Given the description of an element on the screen output the (x, y) to click on. 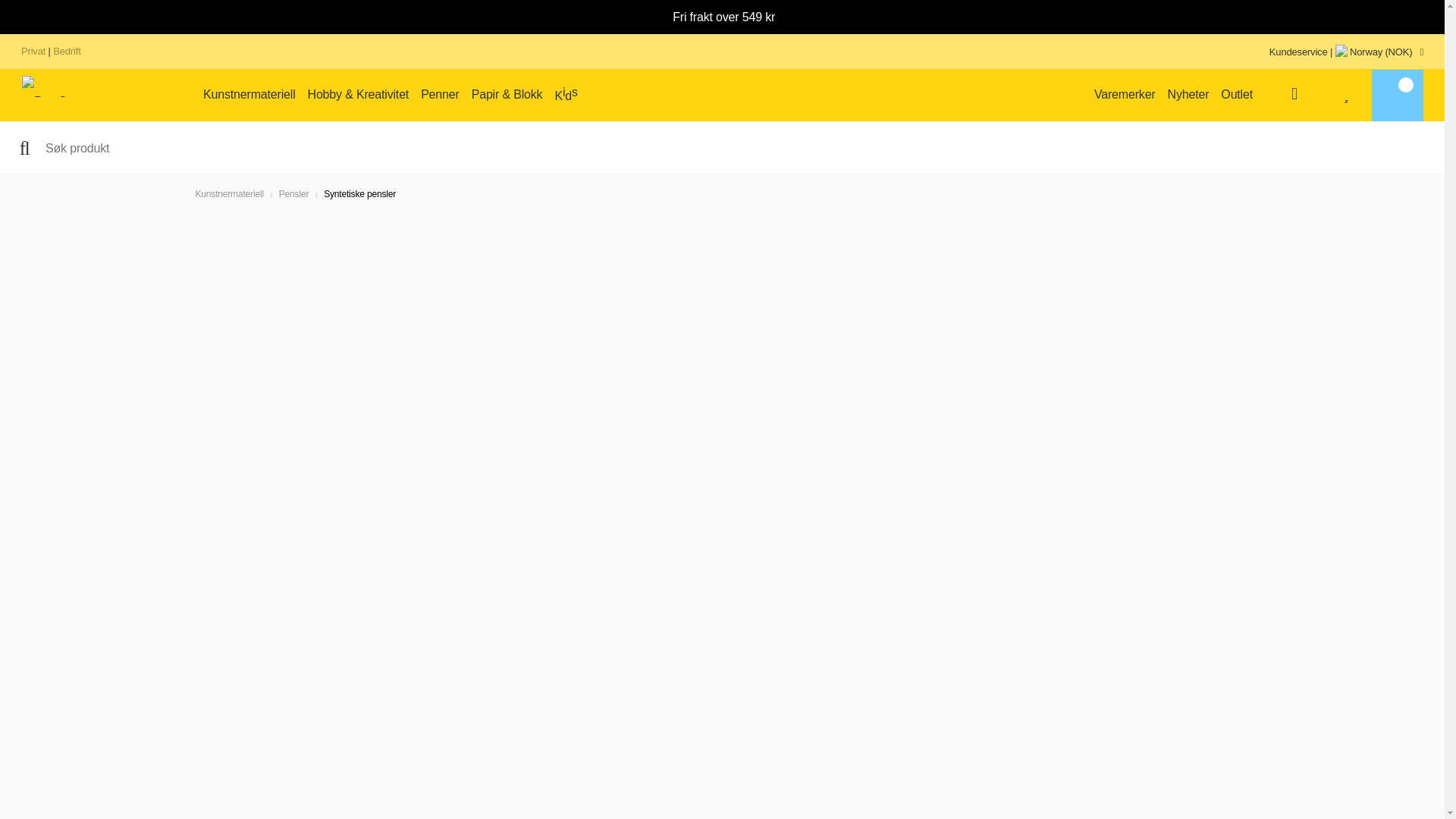
Kunstnermateriell (249, 94)
Fri frakt over 549 kr (721, 40)
Kundeservice (1298, 51)
Kunstnermateriell (249, 94)
